Given the description of an element on the screen output the (x, y) to click on. 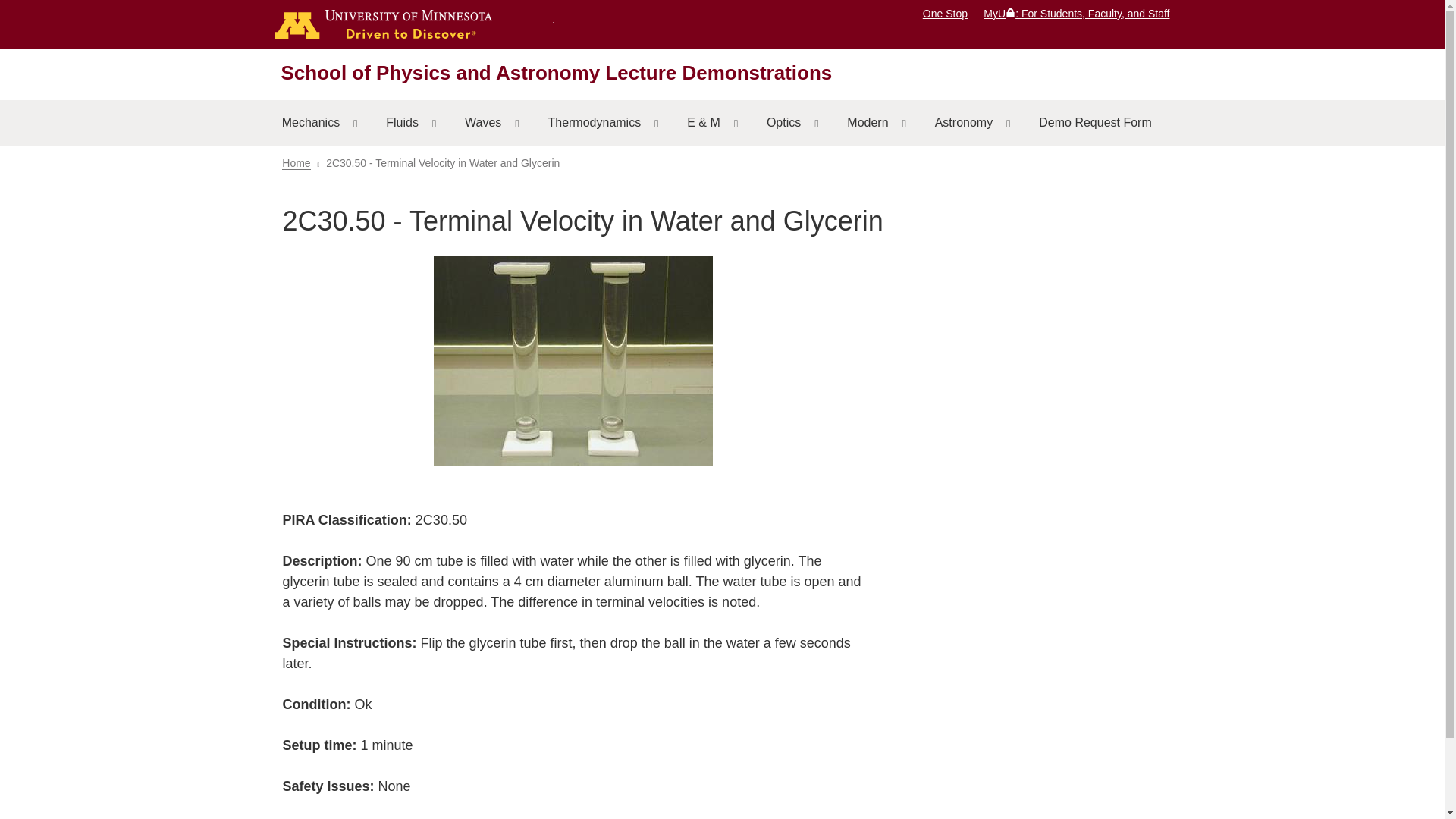
Terminal velocity in water and glycerin (572, 363)
Terminal velocity in water and glycerin (573, 361)
